Given the description of an element on the screen output the (x, y) to click on. 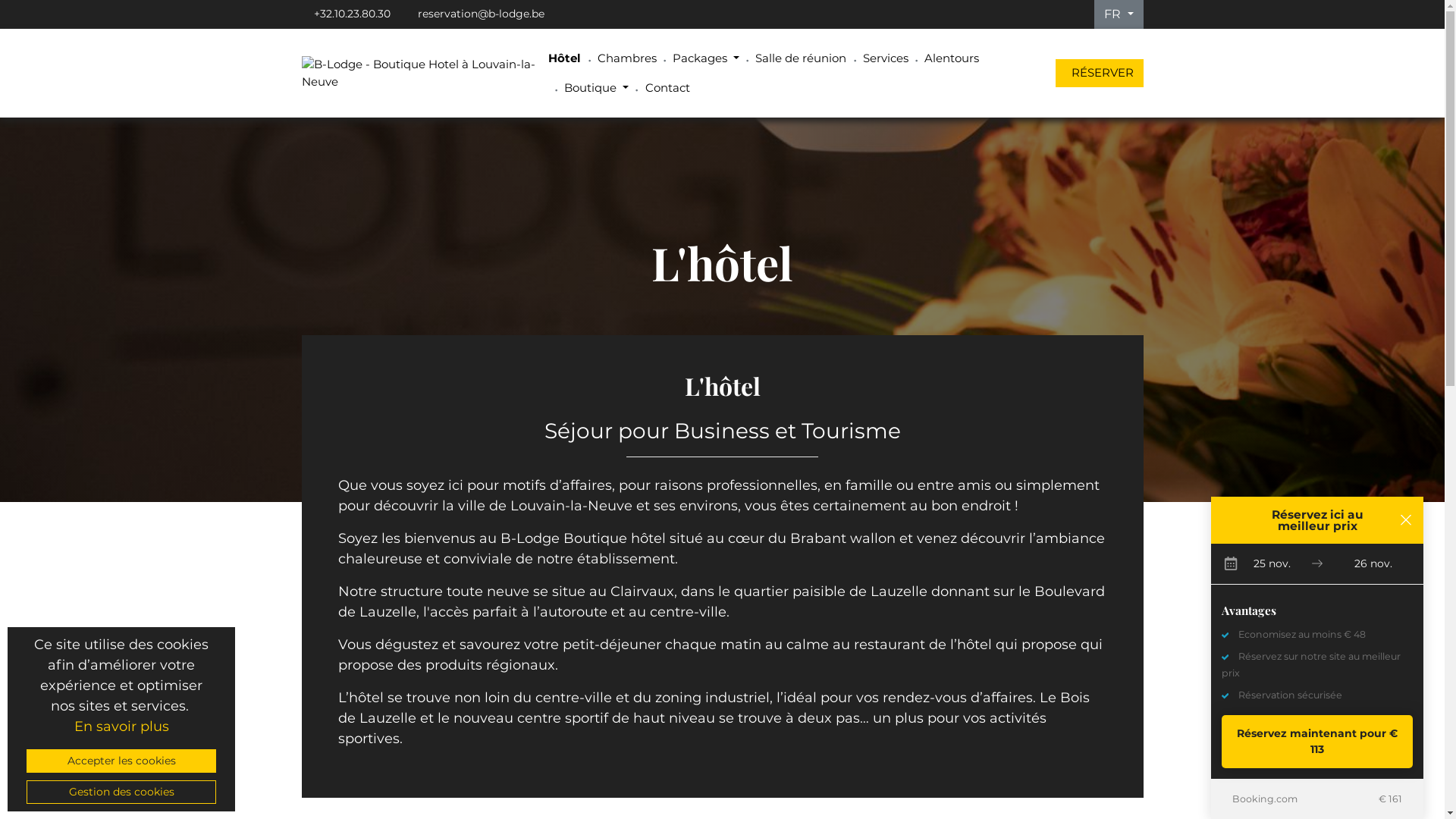
FR Element type: text (1118, 14)
Contact Element type: text (666, 87)
Gestion des cookies Element type: text (121, 791)
reservation@b-lodge.be Element type: text (477, 13)
Accepter les cookies Element type: text (121, 760)
Chambres Element type: text (626, 58)
En savoir plus Element type: text (121, 726)
Services Element type: text (885, 58)
+32.10.23.80.30 Element type: text (348, 13)
Boutique Element type: text (596, 87)
Packages Element type: text (705, 58)
Alentours Element type: text (951, 58)
